Given the description of an element on the screen output the (x, y) to click on. 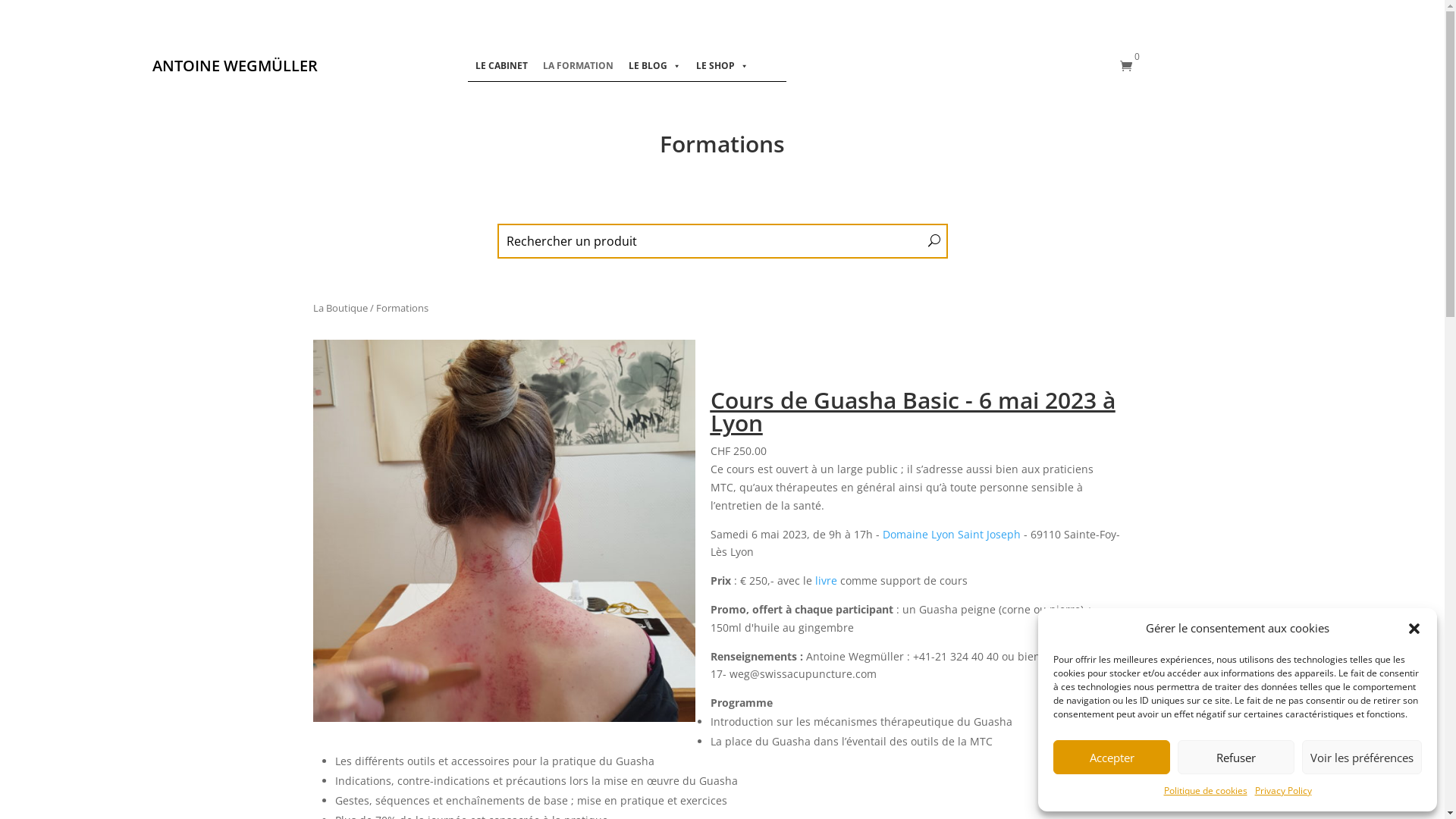
Refuser Element type: text (1235, 757)
La Boutique Element type: text (339, 307)
LA FORMATION Element type: text (578, 65)
LE SHOP Element type: text (722, 65)
livre Element type: text (825, 580)
Privacy Policy Element type: text (1282, 790)
Politique de cookies Element type: text (1204, 790)
LE CABINET Element type: text (501, 65)
Accepter Element type: text (1111, 757)
Domaine Lyon Saint Joseph Element type: text (951, 534)
LE BLOG Element type: text (654, 65)
